Given the description of an element on the screen output the (x, y) to click on. 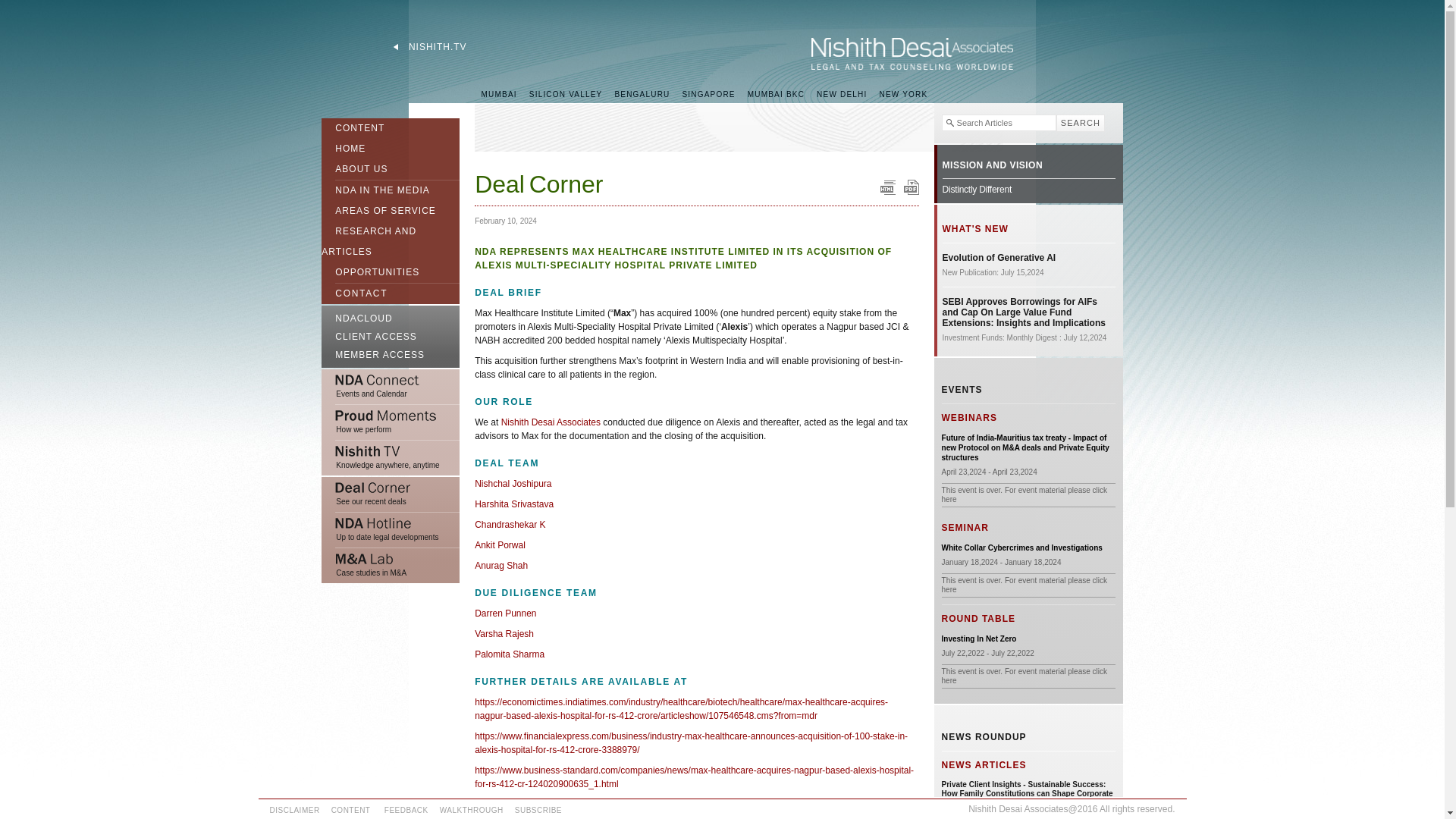
ABOUT US (354, 170)
Harshita Srivastava (513, 503)
See our recent deals (390, 494)
Webinar (1028, 447)
Round Table (979, 638)
NEW YORK (902, 94)
Events and Calendar (390, 386)
NDACLOUD (390, 316)
SINGAPORE (708, 94)
SILICON VALLEY (565, 94)
MUMBAI (499, 94)
NDA IN THE MEDIA (375, 187)
SEARCH (1081, 122)
OPPORTUNITIES (370, 273)
How we perform (390, 422)
